Given the description of an element on the screen output the (x, y) to click on. 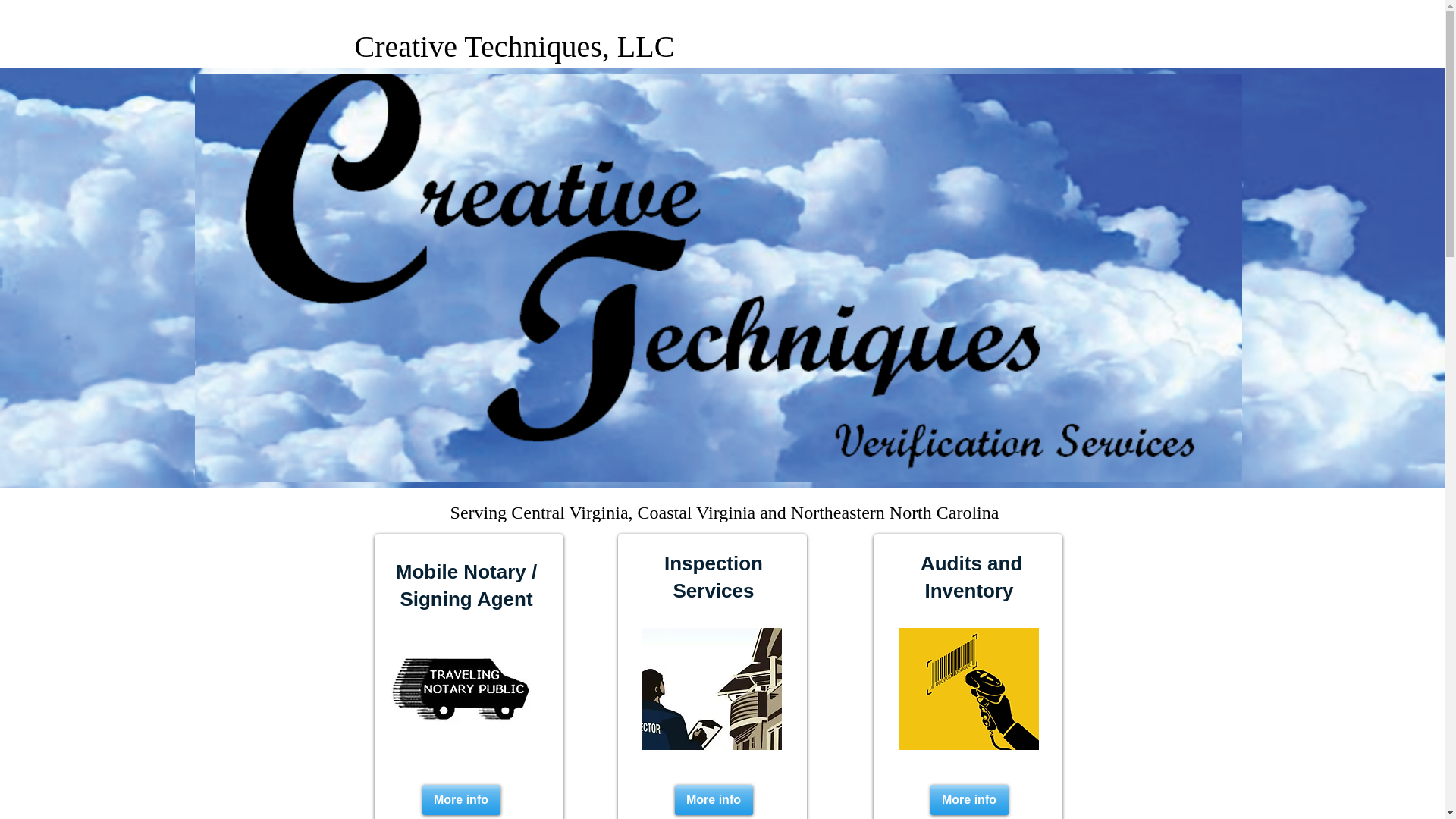
40359.jpg (711, 689)
40359.jpg (461, 689)
More info (968, 799)
40359.jpg (969, 689)
More info (460, 799)
More info (713, 799)
